Given the description of an element on the screen output the (x, y) to click on. 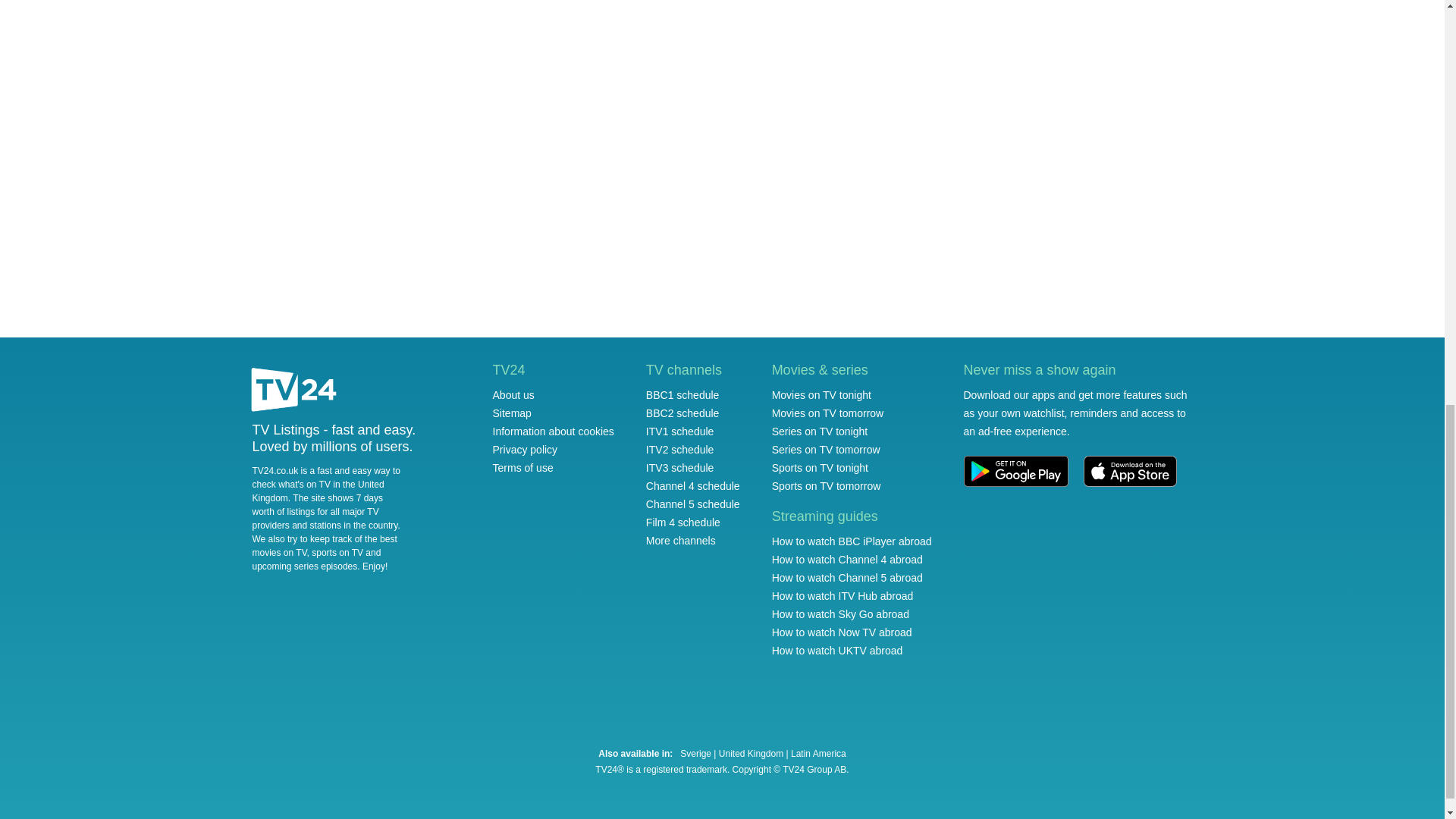
TV24.co.uk (294, 391)
Information about cookies (553, 431)
More channels (681, 540)
ITV3 schedule (680, 467)
the best movies on TV (323, 545)
Channel 5 schedule (692, 503)
BBC1 schedule (682, 395)
ITV2 schedule (680, 449)
ITV3 schedule (680, 467)
BBC1 schedule (682, 395)
